Given the description of an element on the screen output the (x, y) to click on. 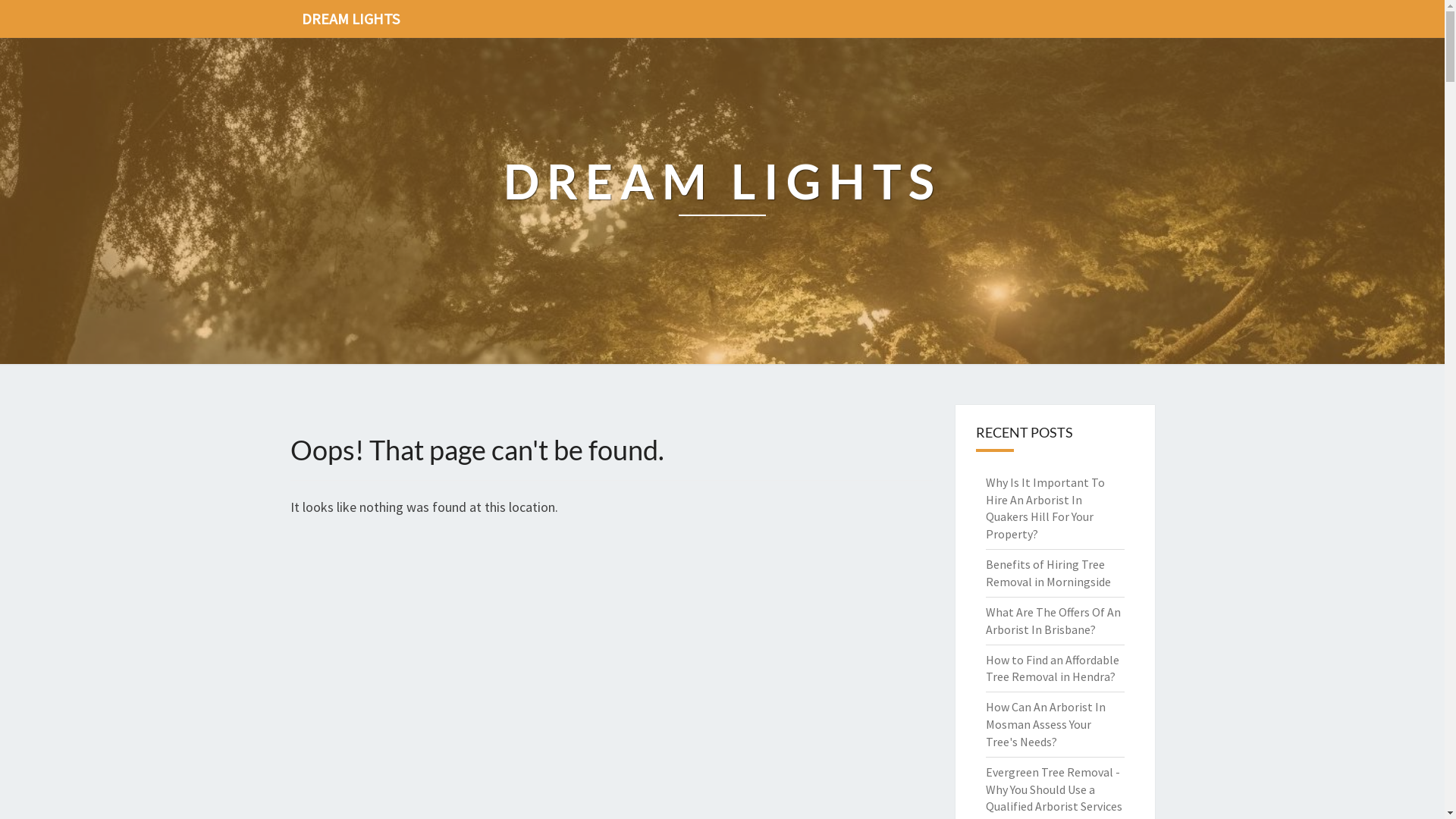
DREAM LIGHTS Element type: text (349, 18)
How to Find an Affordable Tree Removal in Hendra? Element type: text (1052, 668)
What Are The Offers Of An Arborist In Brisbane? Element type: text (1052, 620)
DREAM LIGHTS Element type: text (722, 200)
Benefits of Hiring Tree Removal in Morningside Element type: text (1047, 572)
How Can An Arborist In Mosman Assess Your Tree's Needs? Element type: text (1045, 724)
